Given the description of an element on the screen output the (x, y) to click on. 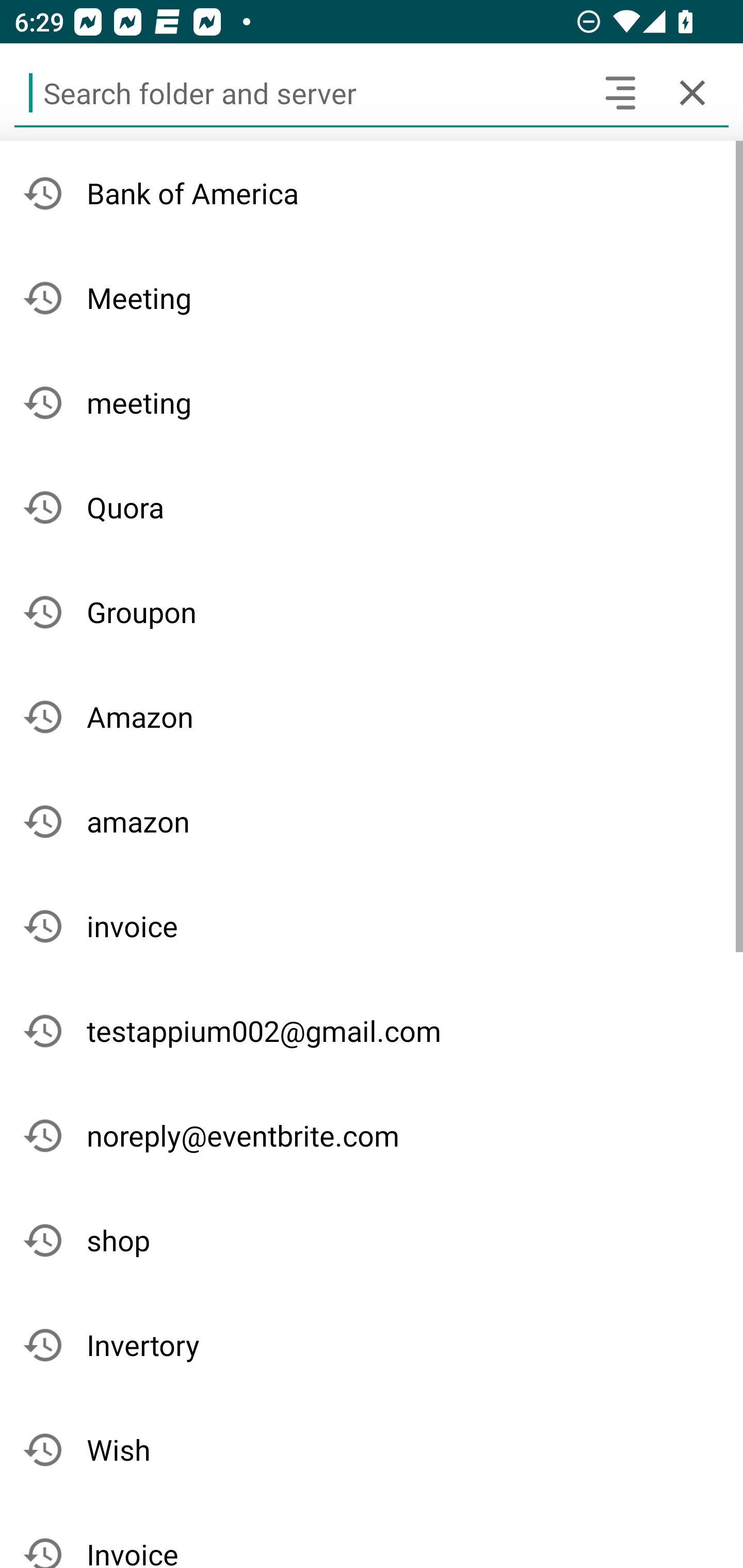
   Search folder and server (298, 92)
Search headers and text (619, 92)
Cancel (692, 92)
